Given the description of an element on the screen output the (x, y) to click on. 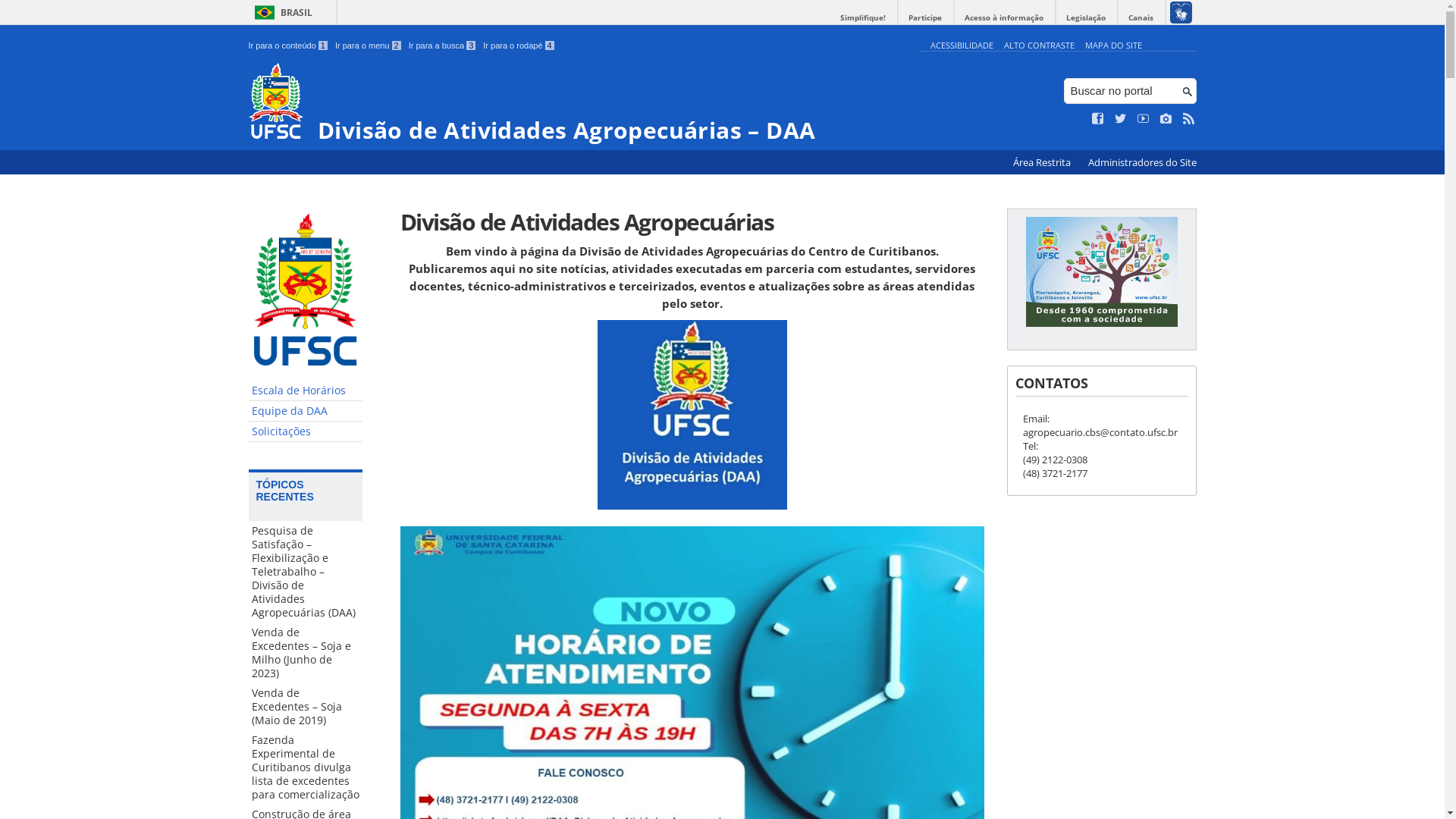
ALTO CONTRASTE Element type: text (1039, 44)
Simplifique! Element type: text (862, 18)
BRASIL Element type: text (280, 12)
MAPA DO SITE Element type: text (1112, 44)
Veja no Instagram Element type: hover (1166, 118)
Siga no Twitter Element type: hover (1120, 118)
Ir para o menu 2 Element type: text (368, 45)
Administradores do Site Element type: text (1141, 162)
ACESSIBILIDADE Element type: text (960, 44)
Canais Element type: text (1140, 18)
Participe Element type: text (924, 18)
Ir para a busca 3 Element type: text (442, 45)
Curta no Facebook Element type: hover (1098, 118)
Equipe da DAA Element type: text (305, 411)
